Given the description of an element on the screen output the (x, y) to click on. 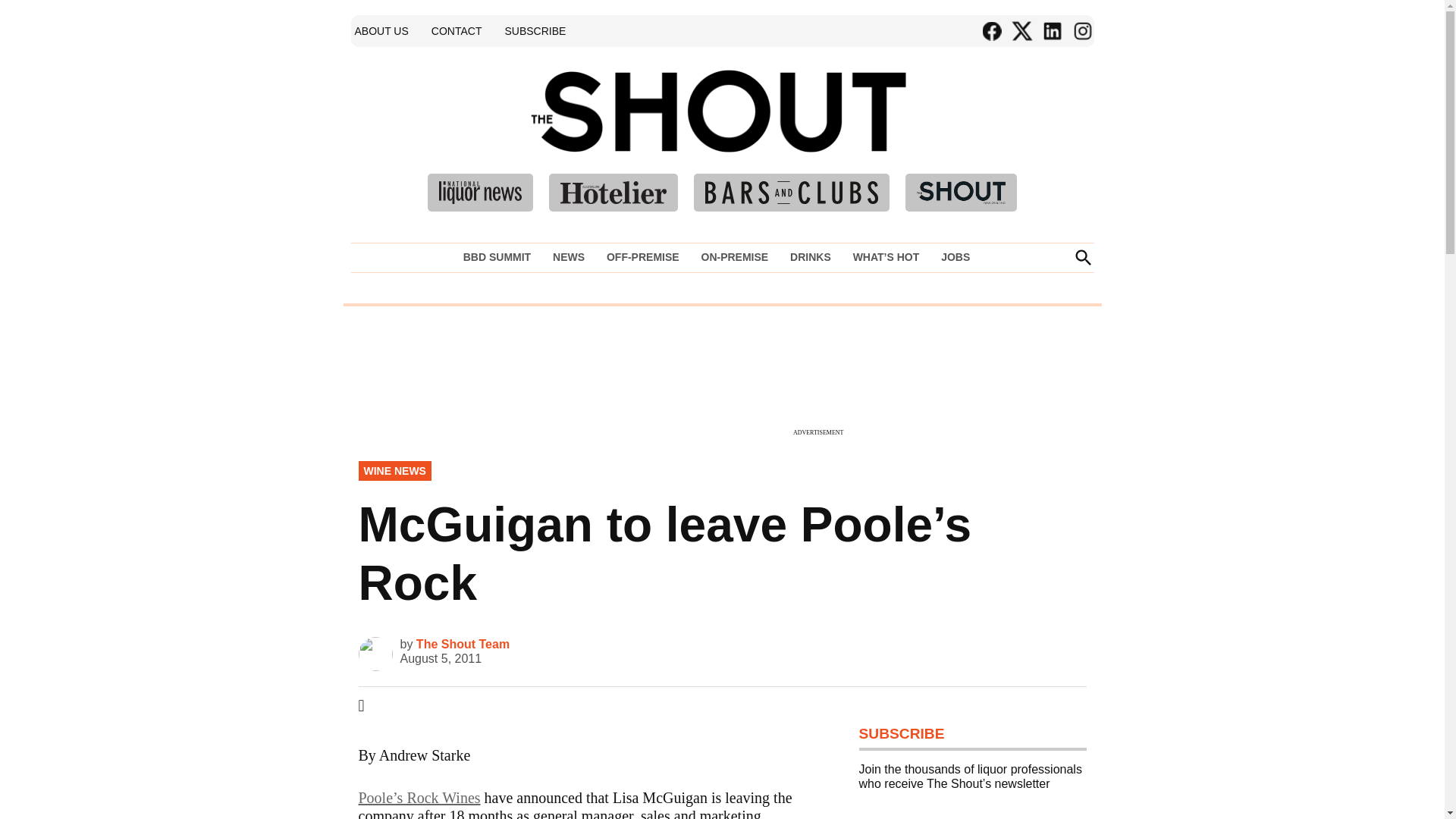
CONTACT (457, 30)
BBD SUMMIT (500, 256)
Twitter (1021, 31)
ABOUT US (381, 30)
NEWS (568, 256)
The Shout (939, 133)
ON-PREMISE (734, 256)
Facebook (991, 31)
Linkedin (1051, 31)
SUBSCRIBE (534, 30)
OFF-PREMISE (642, 256)
Instagram (1081, 31)
